Given the description of an element on the screen output the (x, y) to click on. 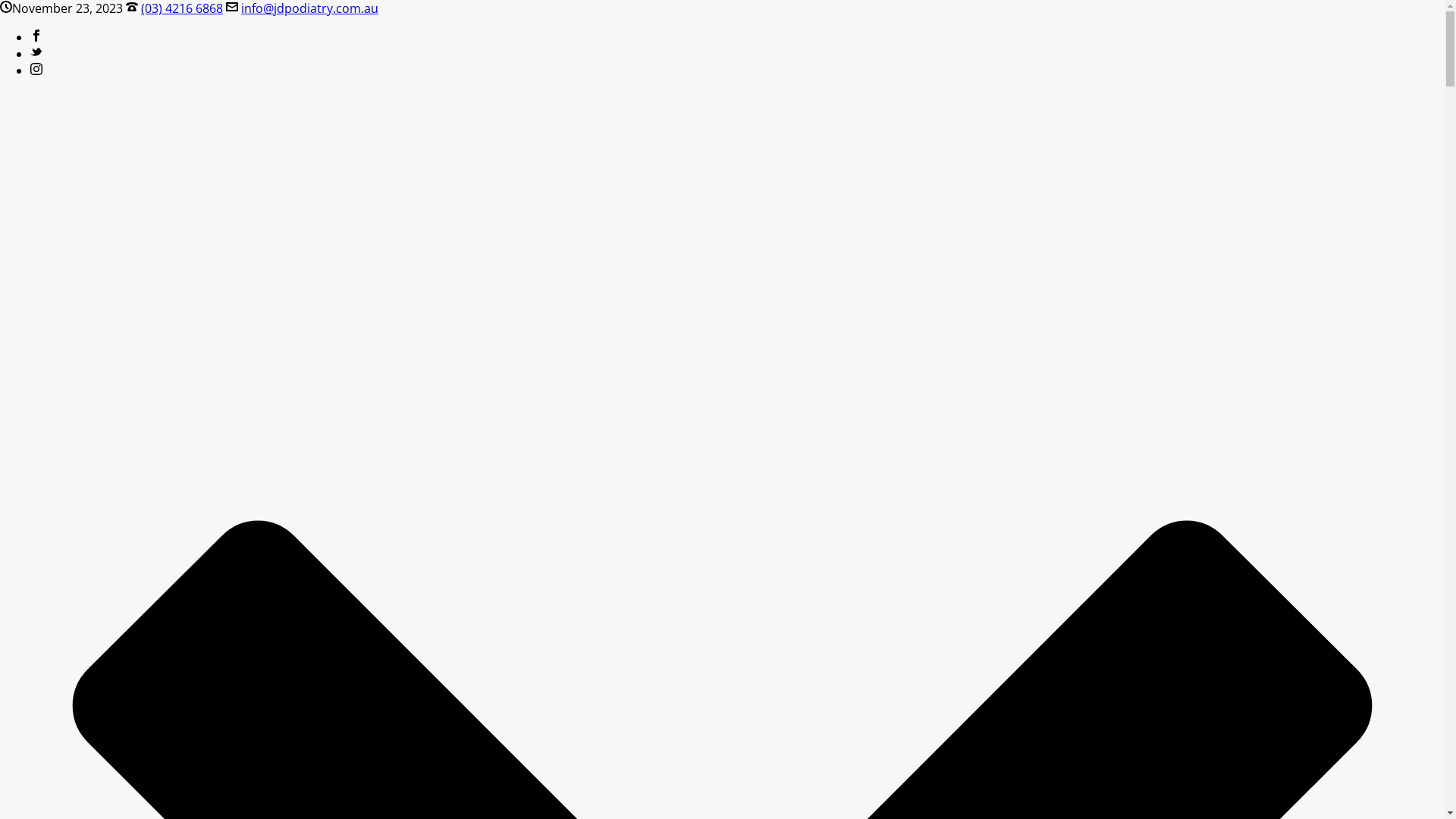
(03) 4216 6868 Element type: text (181, 8)
info@jdpodiatry.com.au Element type: text (309, 8)
